Given the description of an element on the screen output the (x, y) to click on. 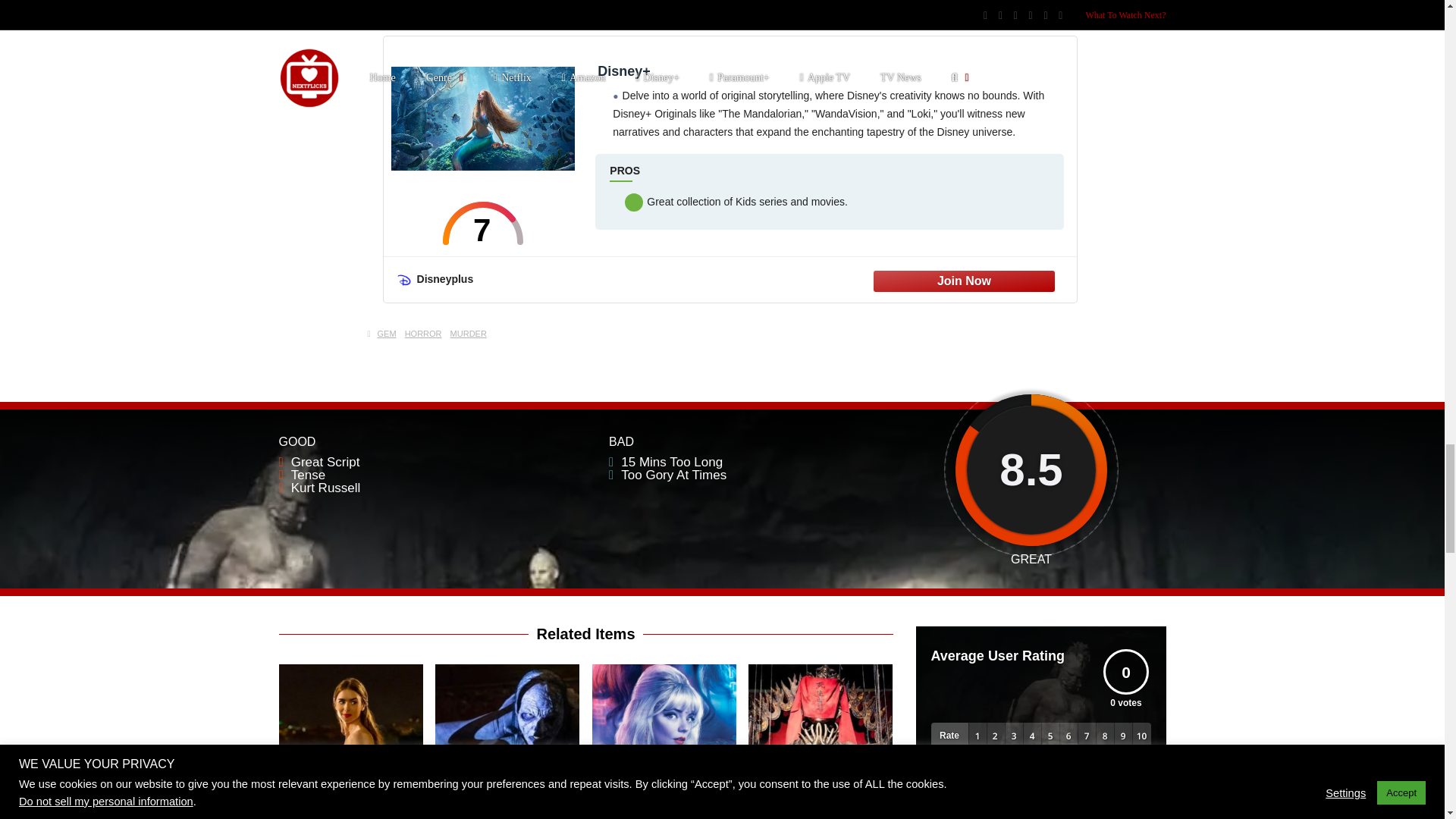
7 (483, 222)
Emily In Paris (351, 803)
